Given the description of an element on the screen output the (x, y) to click on. 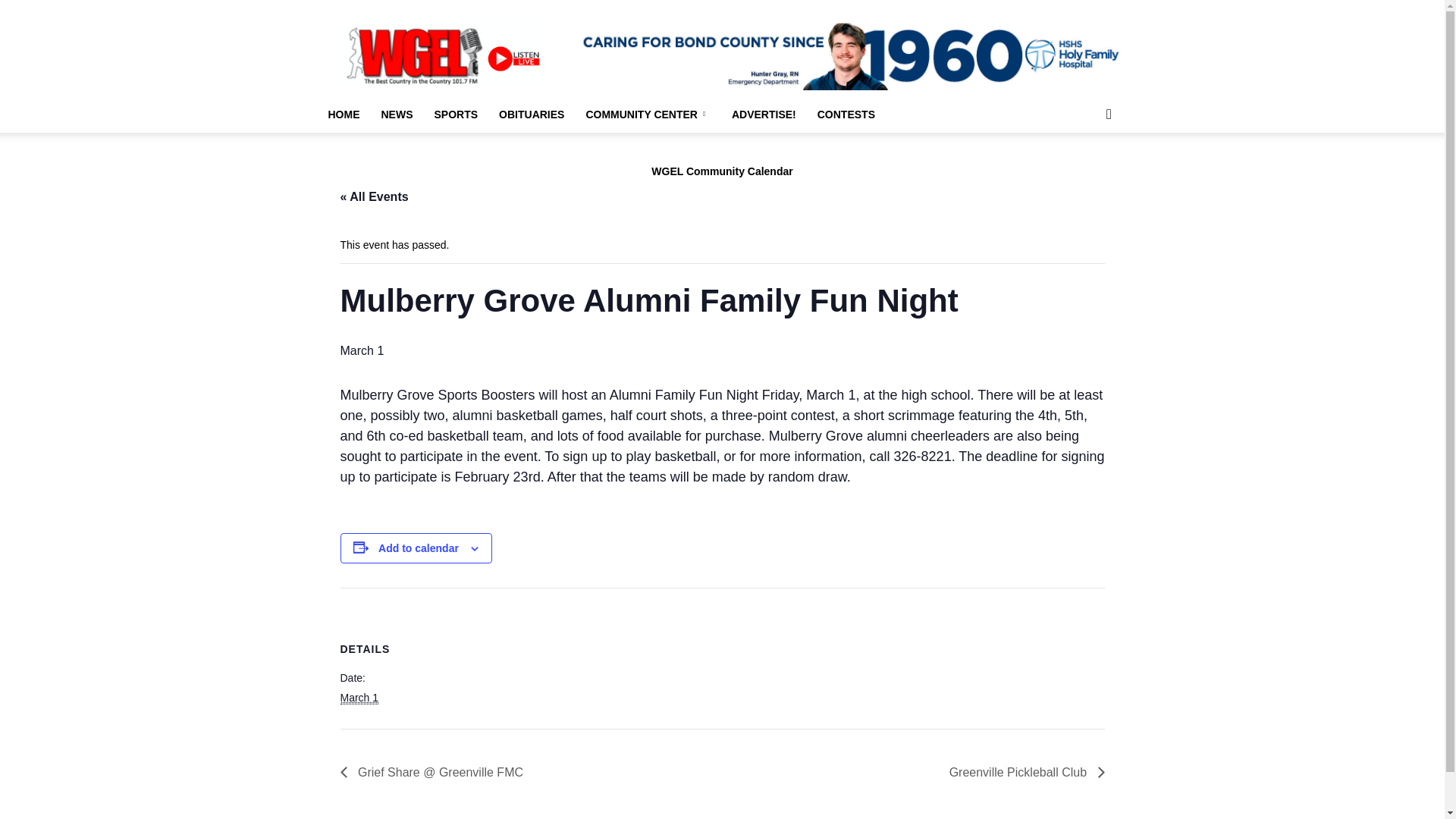
WGEL Logo (446, 55)
NEWS (396, 114)
CONTESTS (845, 114)
ADVERTISE! (763, 114)
Search (1085, 174)
HOME (343, 114)
2024-03-01 (358, 697)
OBITUARIES (531, 114)
SPORTS (455, 114)
COMMUNITY CENTER (647, 114)
Add to calendar (418, 548)
